Given the description of an element on the screen output the (x, y) to click on. 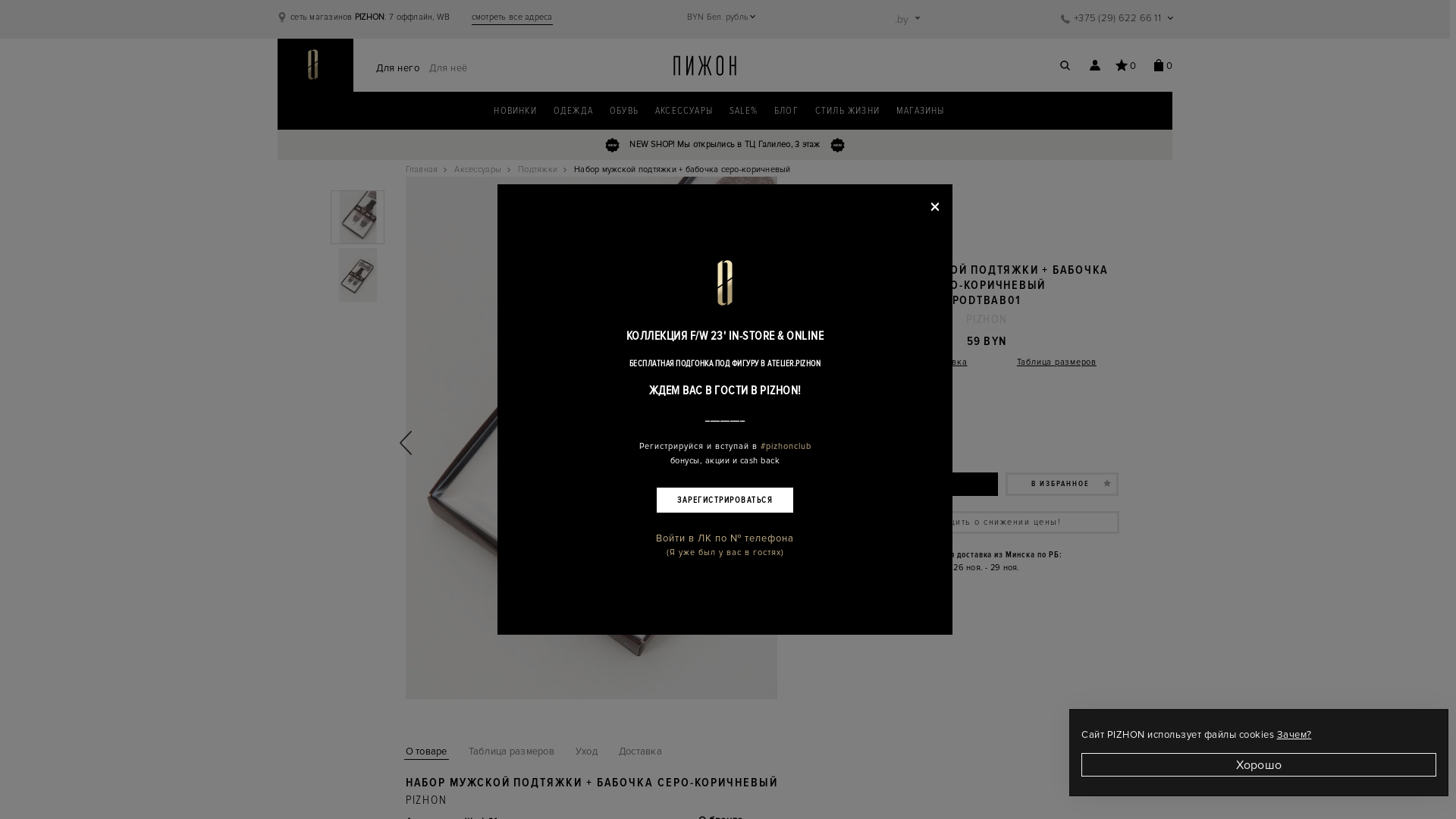
SALE% Element type: text (743, 110)
+375 (29) 622 66 11 Element type: text (1116, 18)
Previous Element type: text (405, 442)
Next Element type: text (777, 442)
.by Element type: text (907, 19)
0 Element type: text (1125, 64)
